Given the description of an element on the screen output the (x, y) to click on. 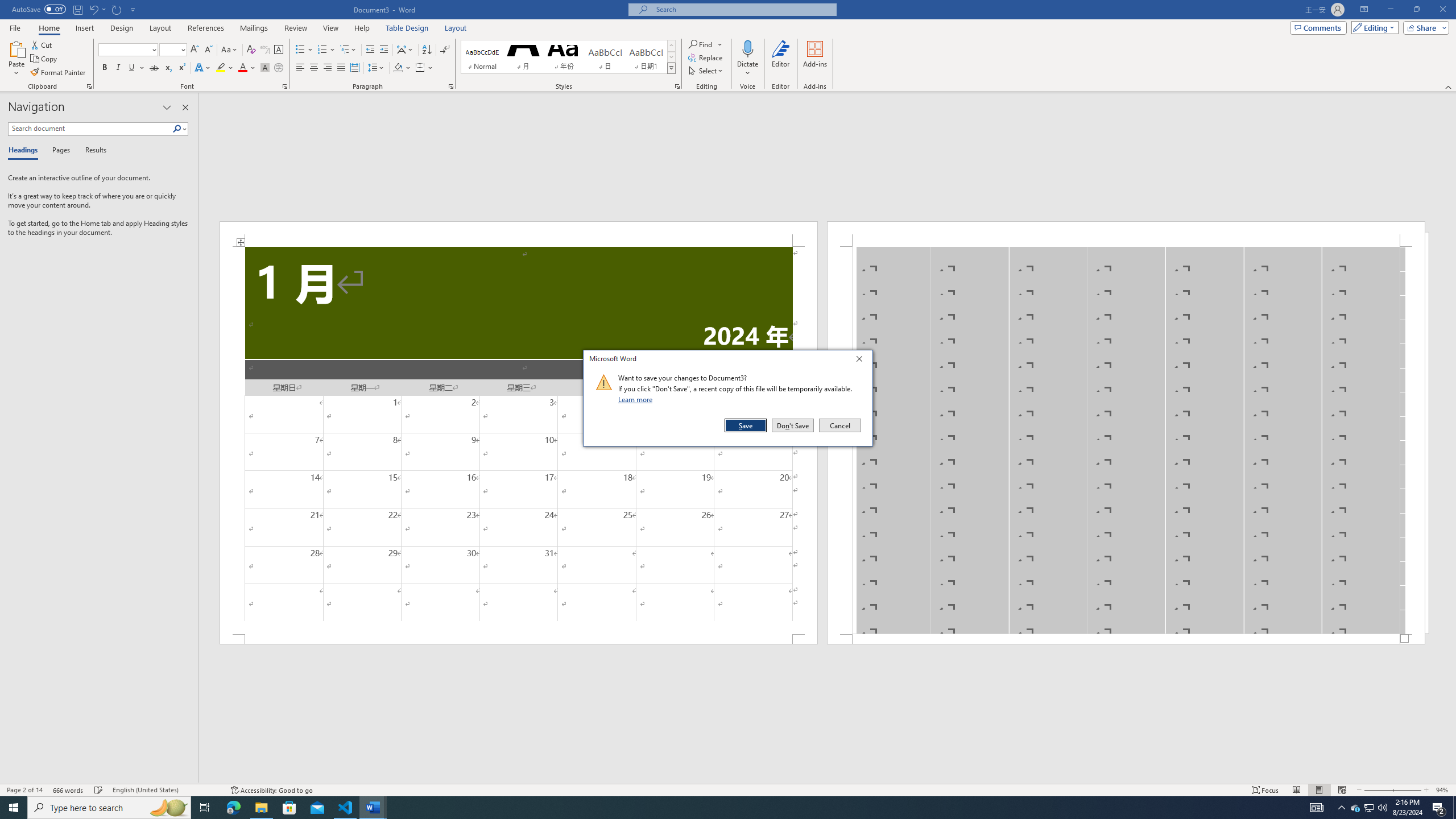
Show/Hide Editing Marks (444, 49)
Decrease Indent (370, 49)
Styles (670, 67)
Row up (1368, 807)
Asian Layout (670, 45)
Font Color RGB(255, 0, 0) (405, 49)
Word Count 666 words (241, 67)
Change Case (68, 790)
Bold (229, 49)
Class: NetUIScrollBar (104, 67)
User Promoted Notification Area (827, 778)
Read Mode (1368, 807)
Layout (1296, 790)
Running applications (455, 28)
